Given the description of an element on the screen output the (x, y) to click on. 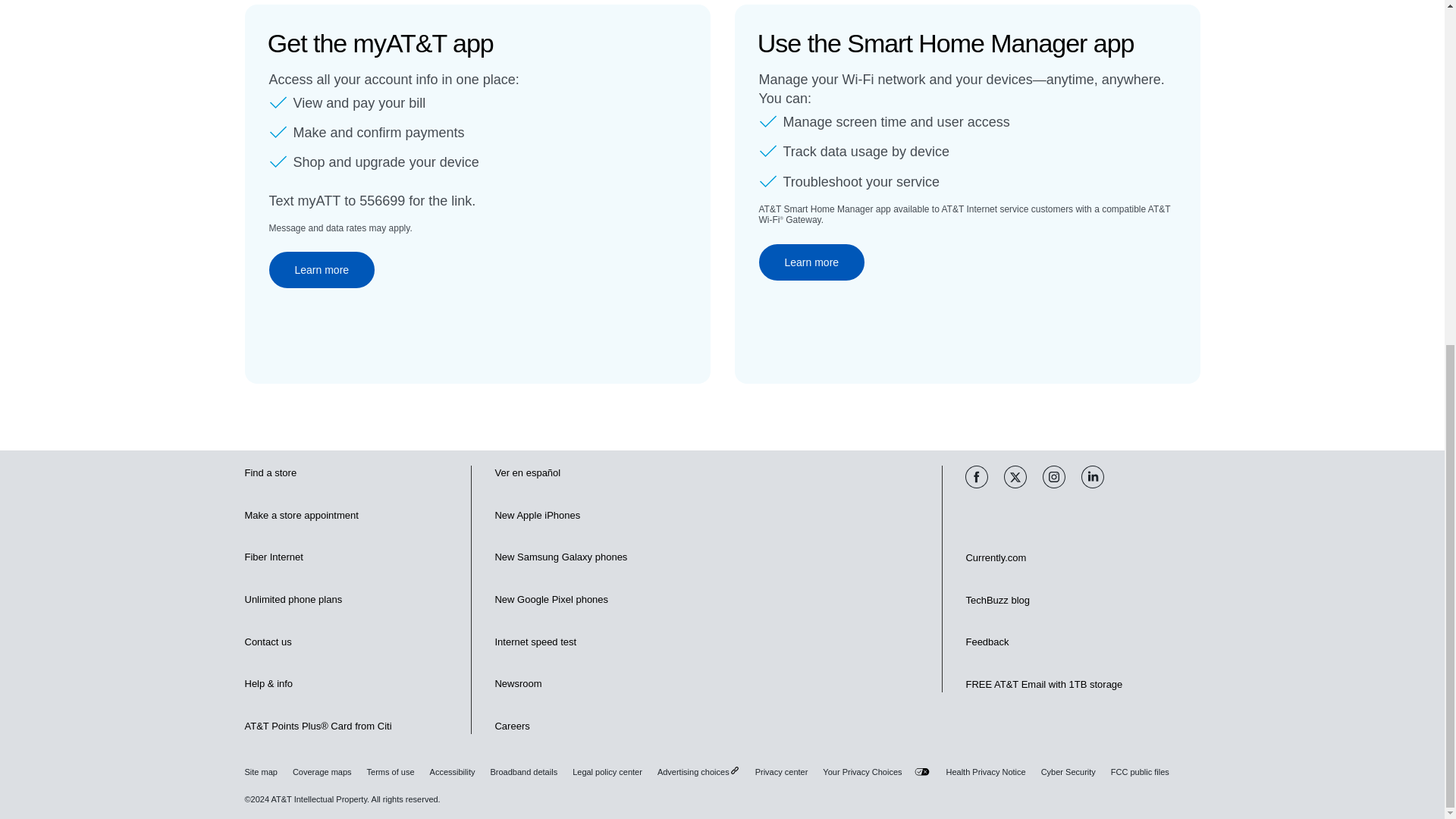
Learn more (811, 262)
Find a store (270, 473)
Learn more (320, 269)
